Given the description of an element on the screen output the (x, y) to click on. 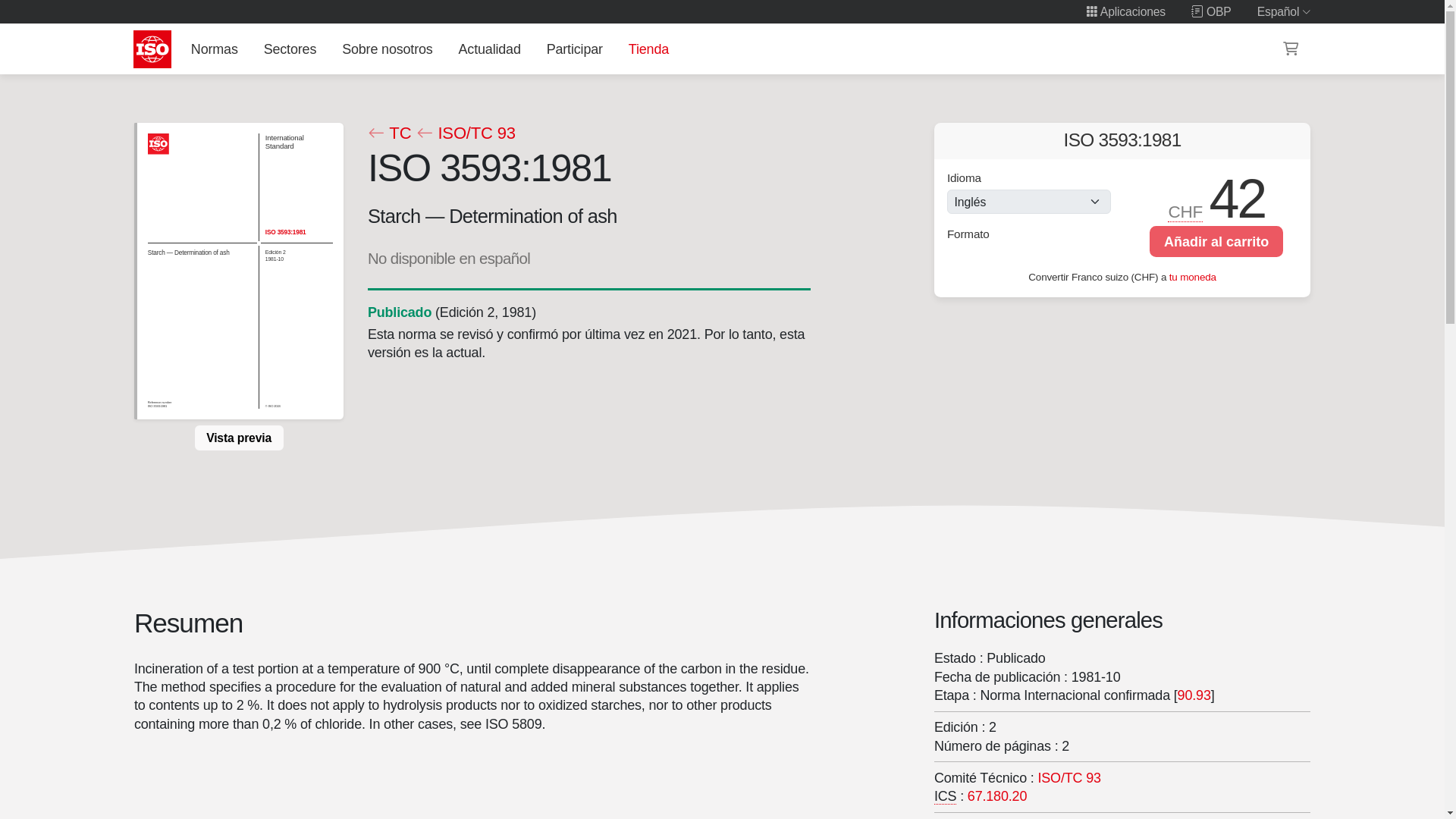
Francos suizos (1186, 211)
tu moneda (1192, 276)
 Aplicaciones (1126, 11)
Portal de aplicaciones de ISO (1126, 11)
 OBP (1211, 11)
Sobre nosotros (387, 48)
Tienda (648, 48)
Vista previa (237, 437)
Sectores (290, 48)
Actualidad (489, 48)
Publicado (398, 312)
TC (388, 133)
Ciclo de vida (398, 312)
